Given the description of an element on the screen output the (x, y) to click on. 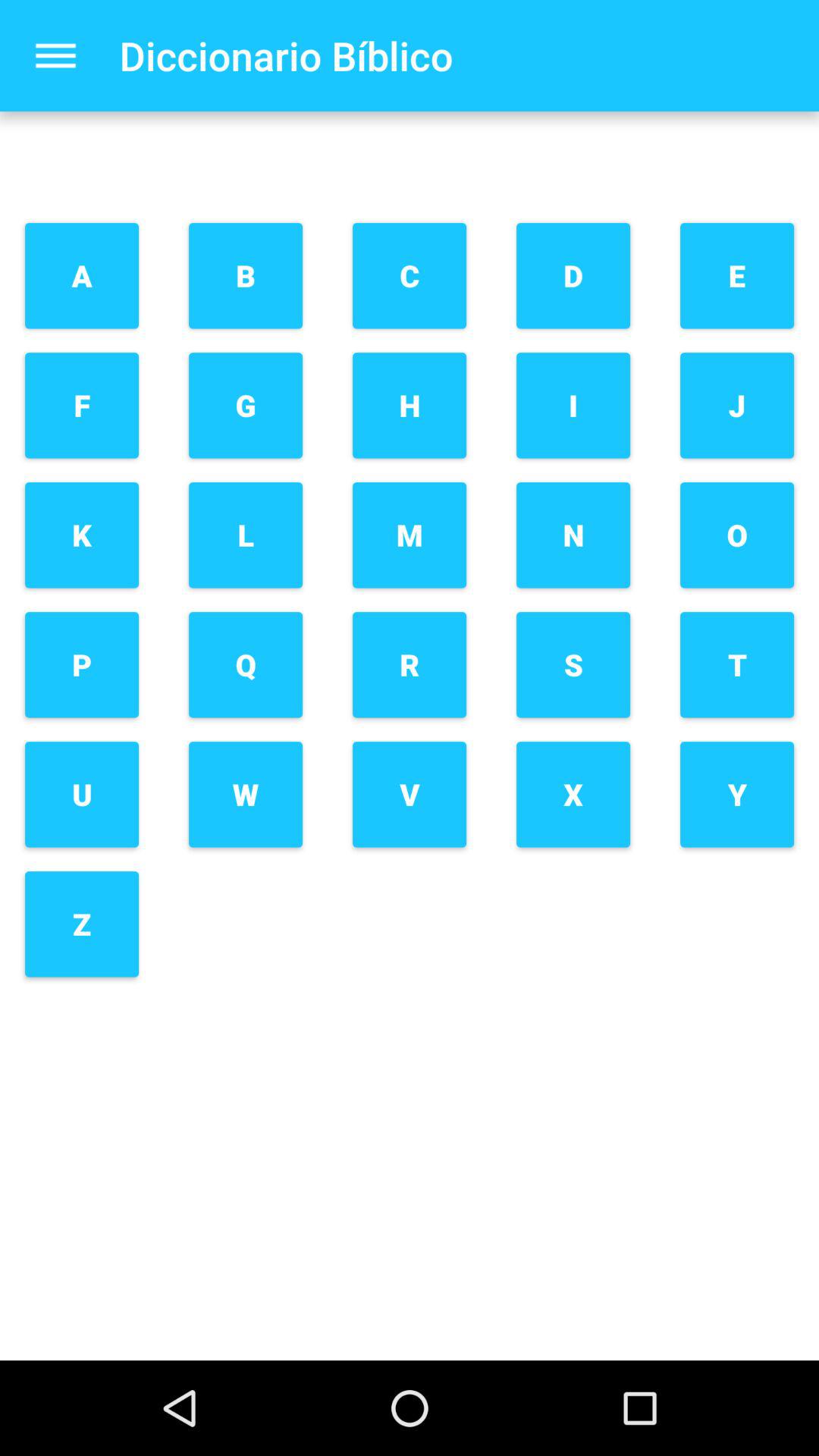
choose the item above j item (736, 275)
